Given the description of an element on the screen output the (x, y) to click on. 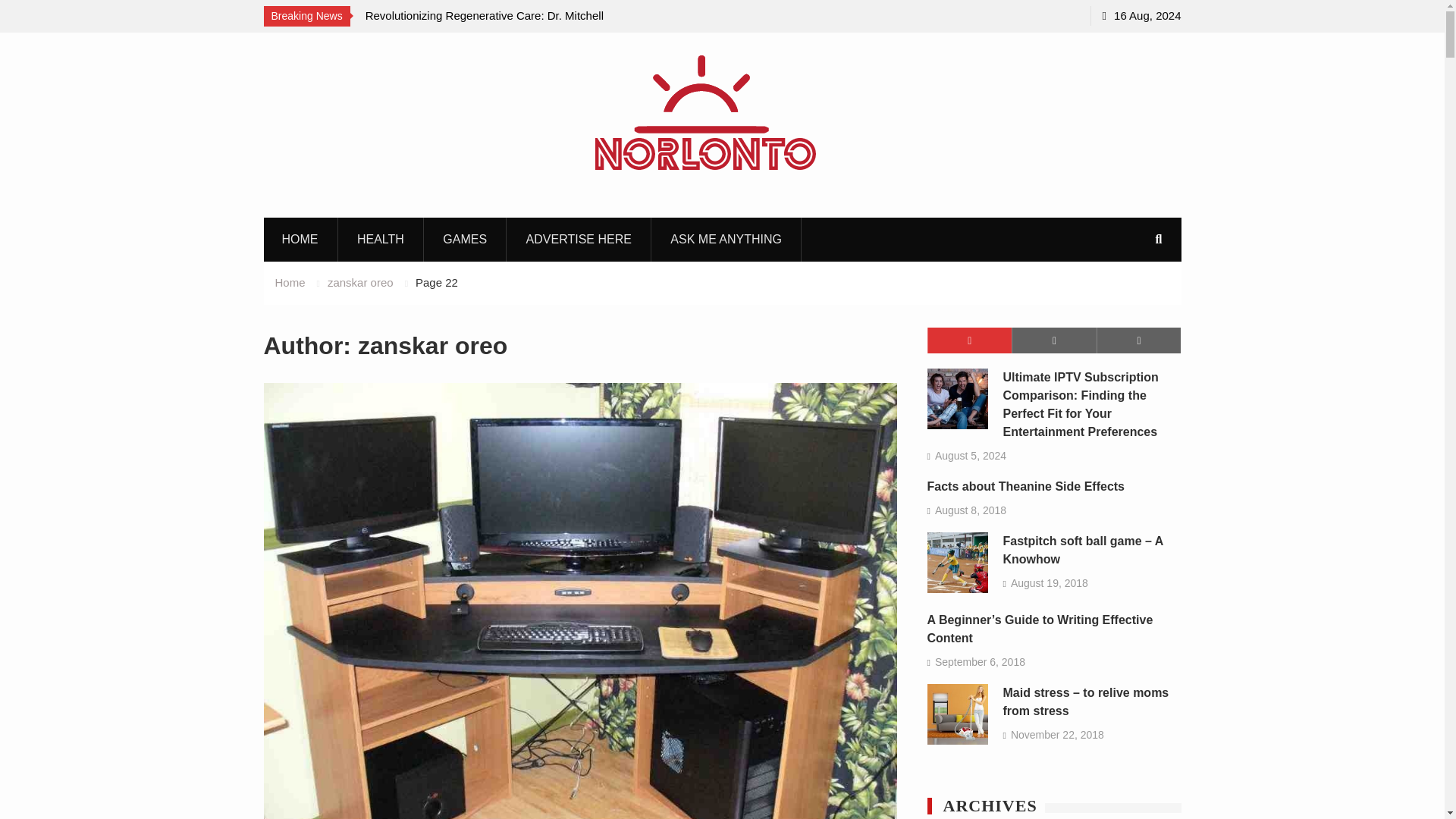
HEALTH (380, 239)
zanskar oreo (360, 282)
HOME (299, 239)
ASK ME ANYTHING (726, 239)
GAMES (464, 239)
Home (289, 282)
ADVERTISE HERE (578, 239)
